Given the description of an element on the screen output the (x, y) to click on. 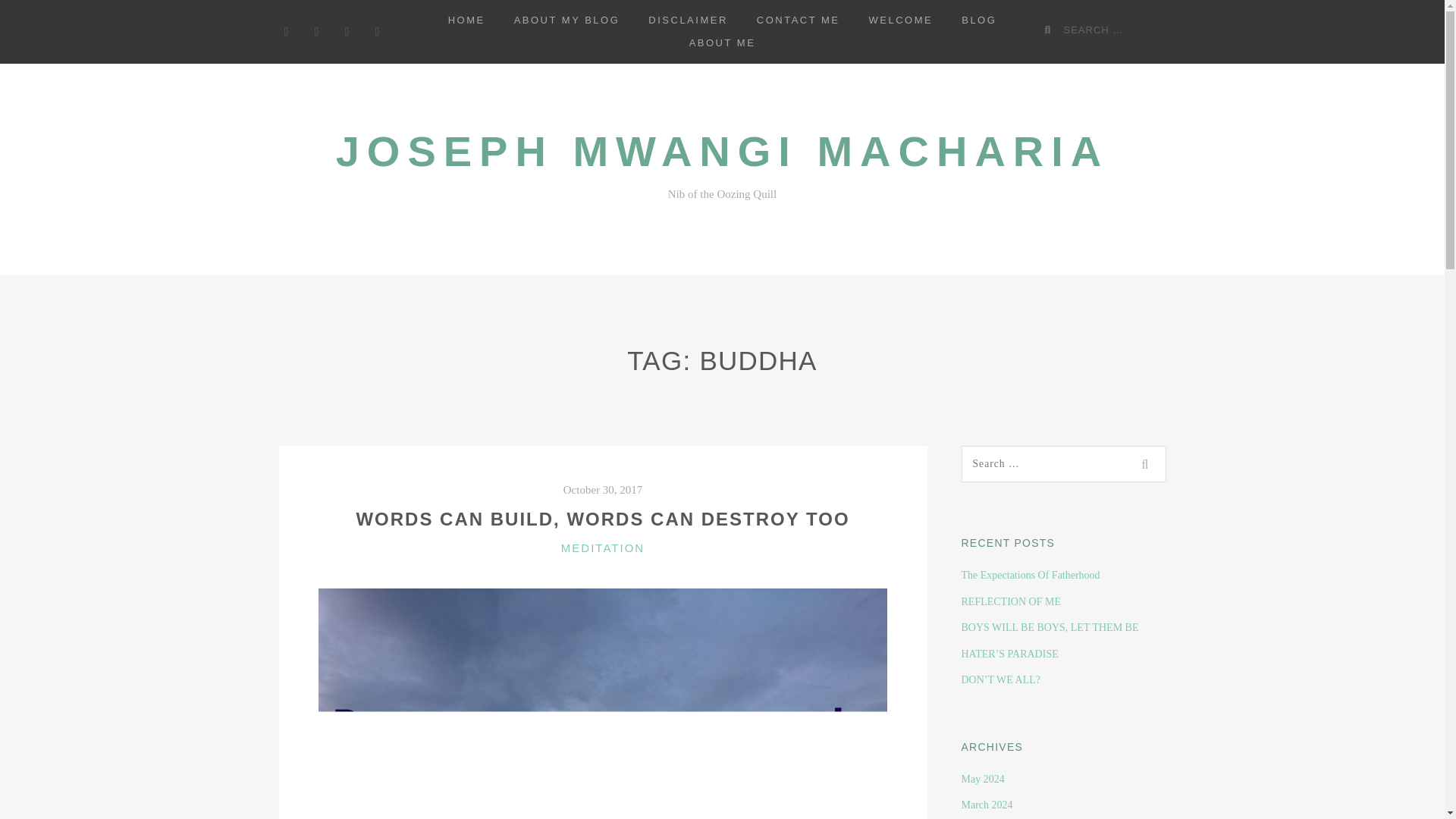
Search (1147, 463)
ABOUT ME (722, 42)
LinkedIn (347, 31)
Search (1147, 463)
MEDITATION (602, 547)
Instagram (377, 31)
REFLECTION OF ME (1010, 601)
May 2024 (982, 778)
CONTACT ME (798, 20)
BLOG (979, 20)
